Given the description of an element on the screen output the (x, y) to click on. 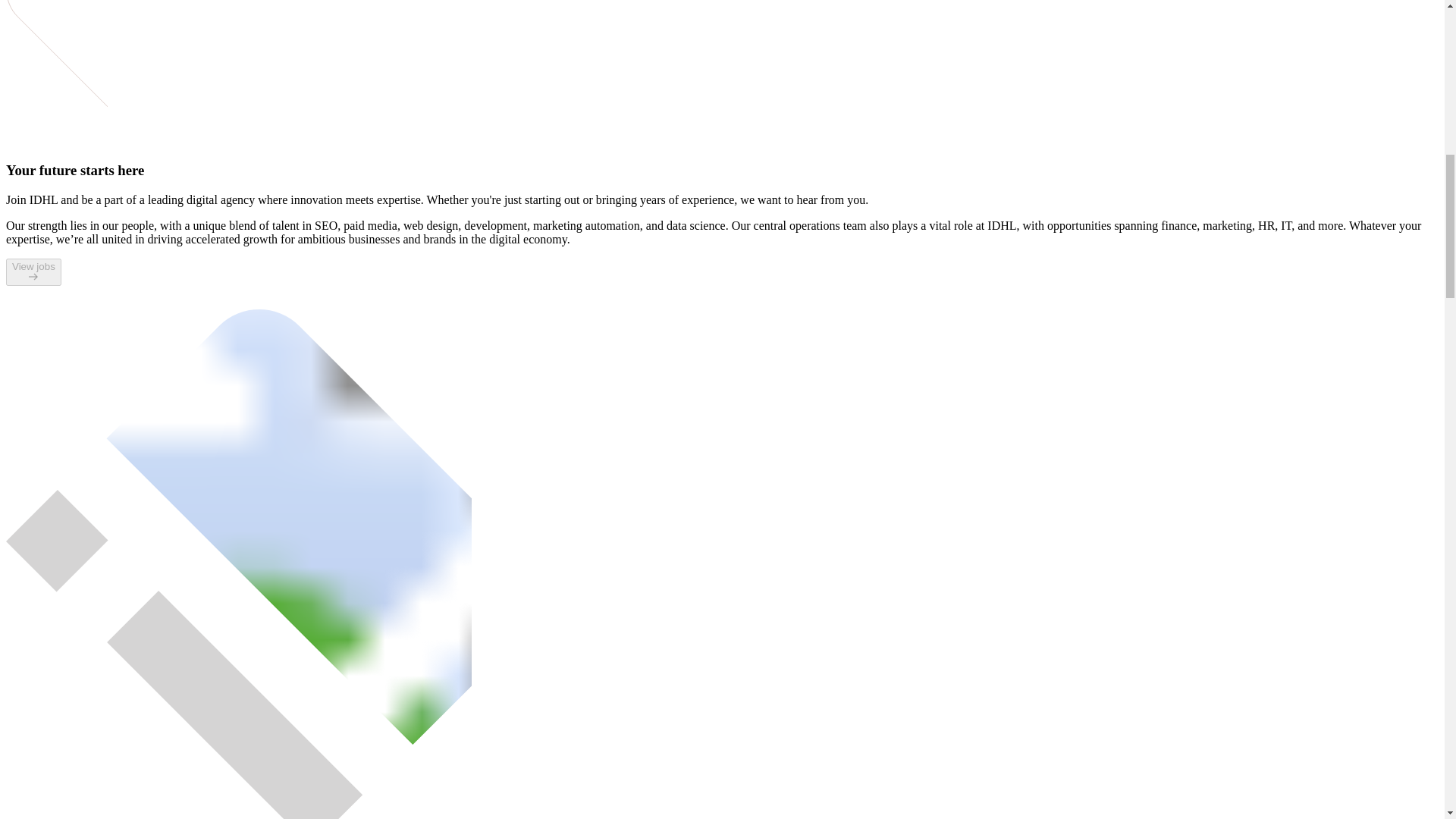
View jobs (33, 277)
View jobs (33, 271)
